Given the description of an element on the screen output the (x, y) to click on. 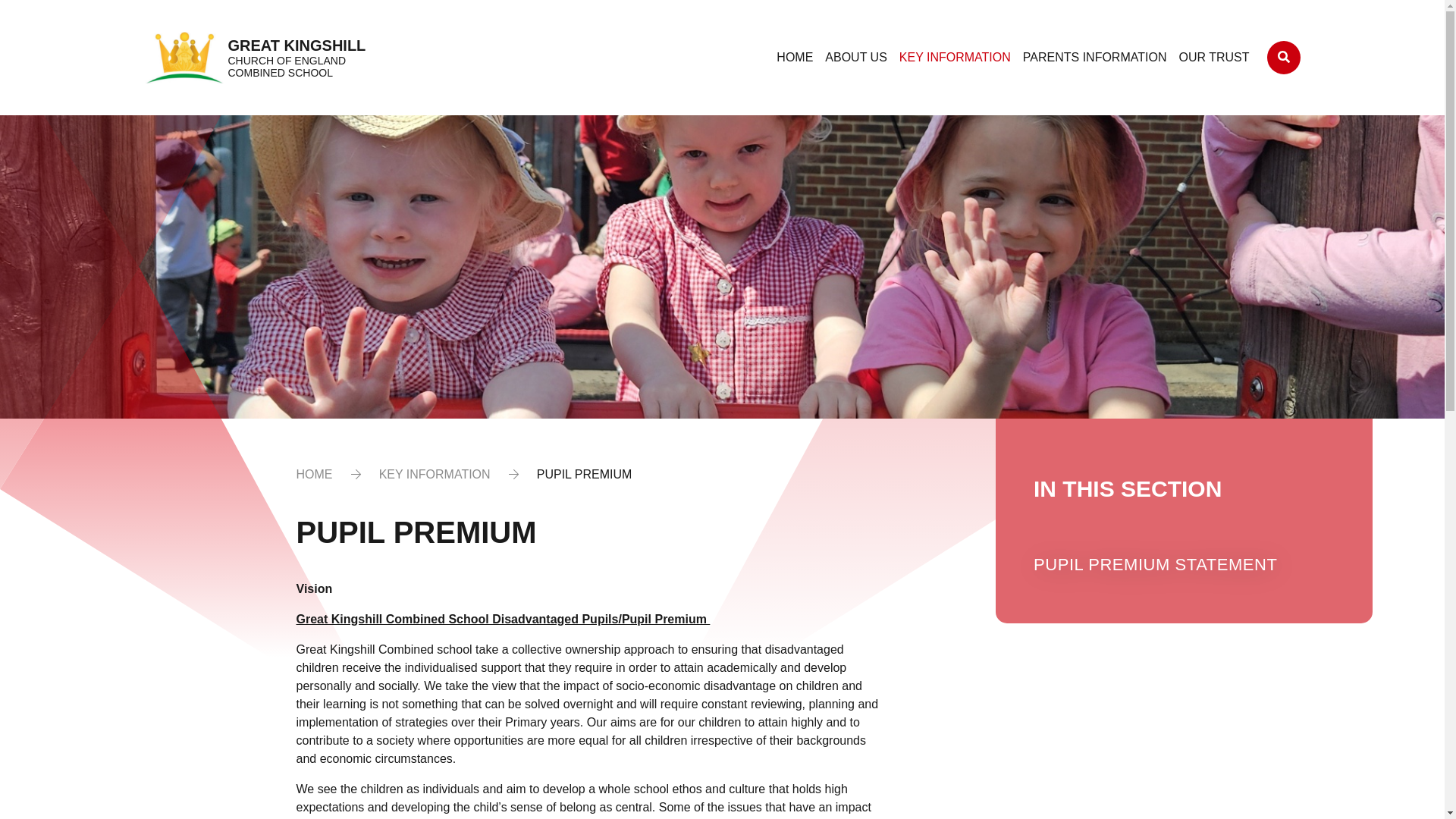
HOME (794, 57)
KEY INFORMATION (954, 57)
ABOUT US (855, 57)
